Given the description of an element on the screen output the (x, y) to click on. 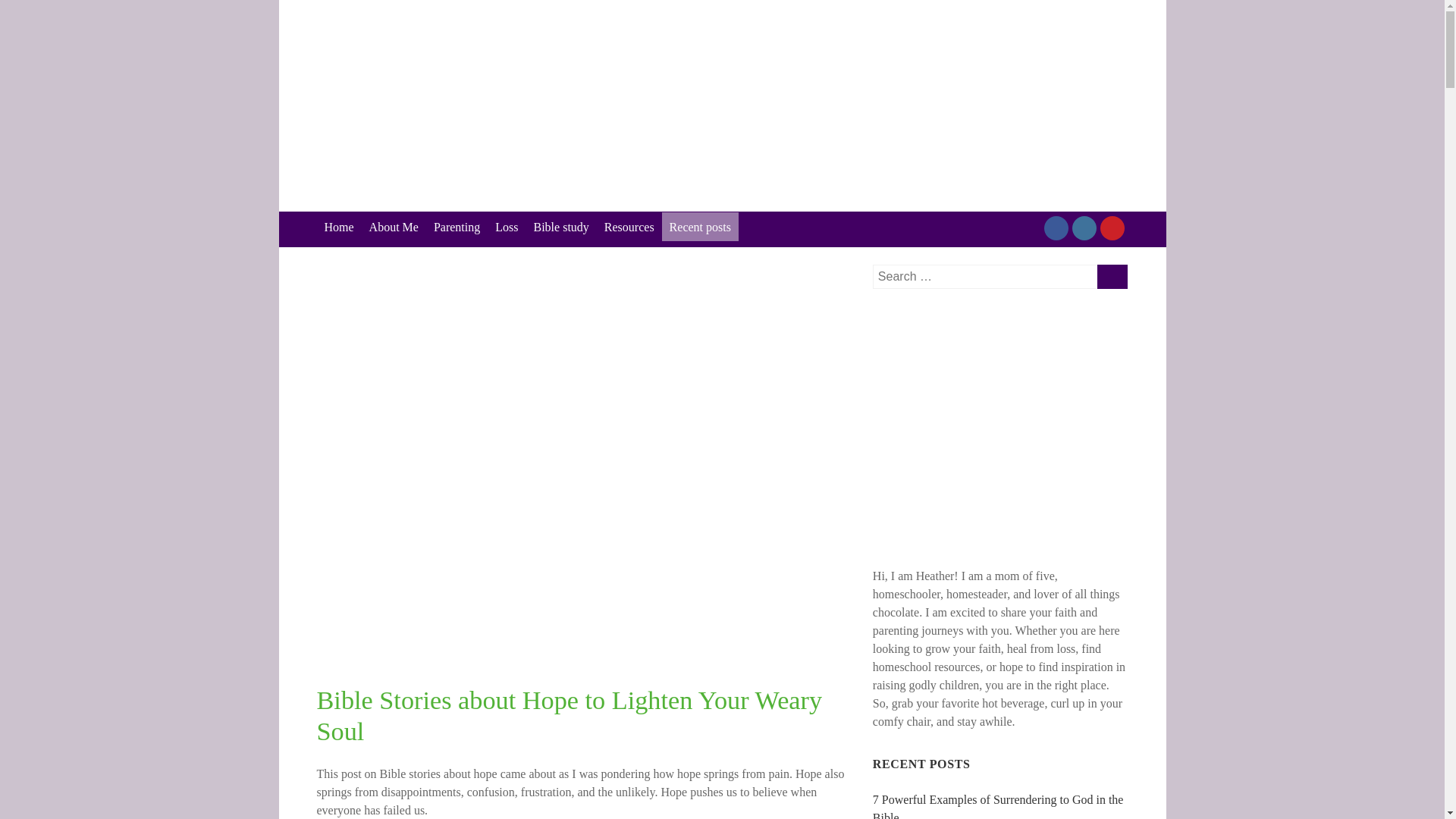
Follow us on Instagram (1083, 228)
Resources (629, 226)
Home (339, 226)
Bible study (560, 226)
About Me (393, 226)
Recent posts (700, 226)
Bible Stories about Hope to Lighten Your Weary Soul (569, 715)
Parenting (456, 226)
Connect on Facebook (1055, 228)
Follow us on Pinterest (1111, 228)
